Given the description of an element on the screen output the (x, y) to click on. 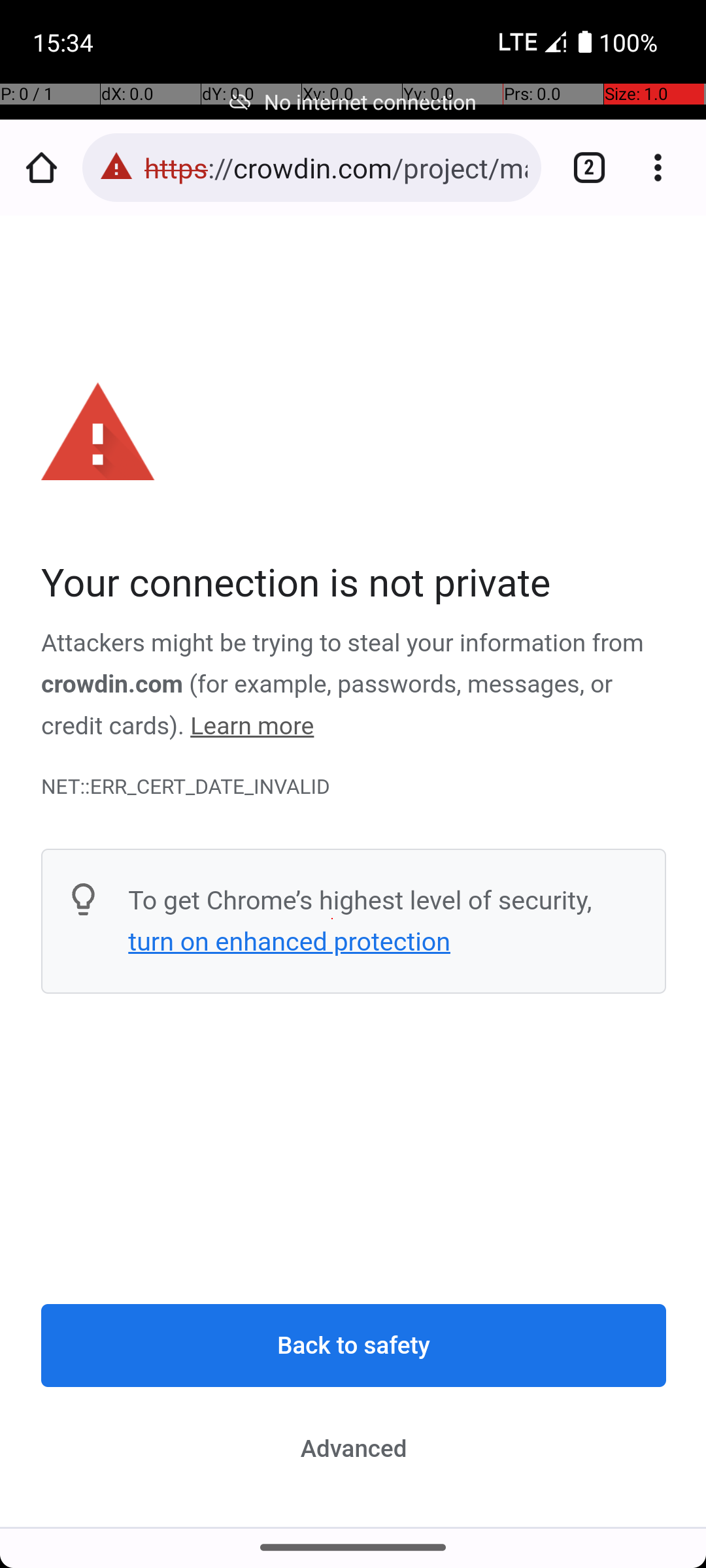
https://crowdin.com/project/markor/invite Element type: android.widget.EditText (335, 167)
Back to safety Element type: android.widget.Button (354, 1345)
Your connection is not private Element type: android.widget.TextView (354, 583)
Attackers might be trying to steal your information from  Element type: android.widget.TextView (343, 643)
crowdin.com Element type: android.widget.TextView (112, 684)
 (for example, passwords, messages, or credit cards).  Element type: android.widget.TextView (327, 705)
NET::ERR_CERT_DATE_INVALID Element type: android.widget.Button (354, 786)
To get Chrome’s highest level of security,  Element type: android.widget.TextView (359, 899)
turn on enhanced protection Element type: android.view.View (288, 941)
